Given the description of an element on the screen output the (x, y) to click on. 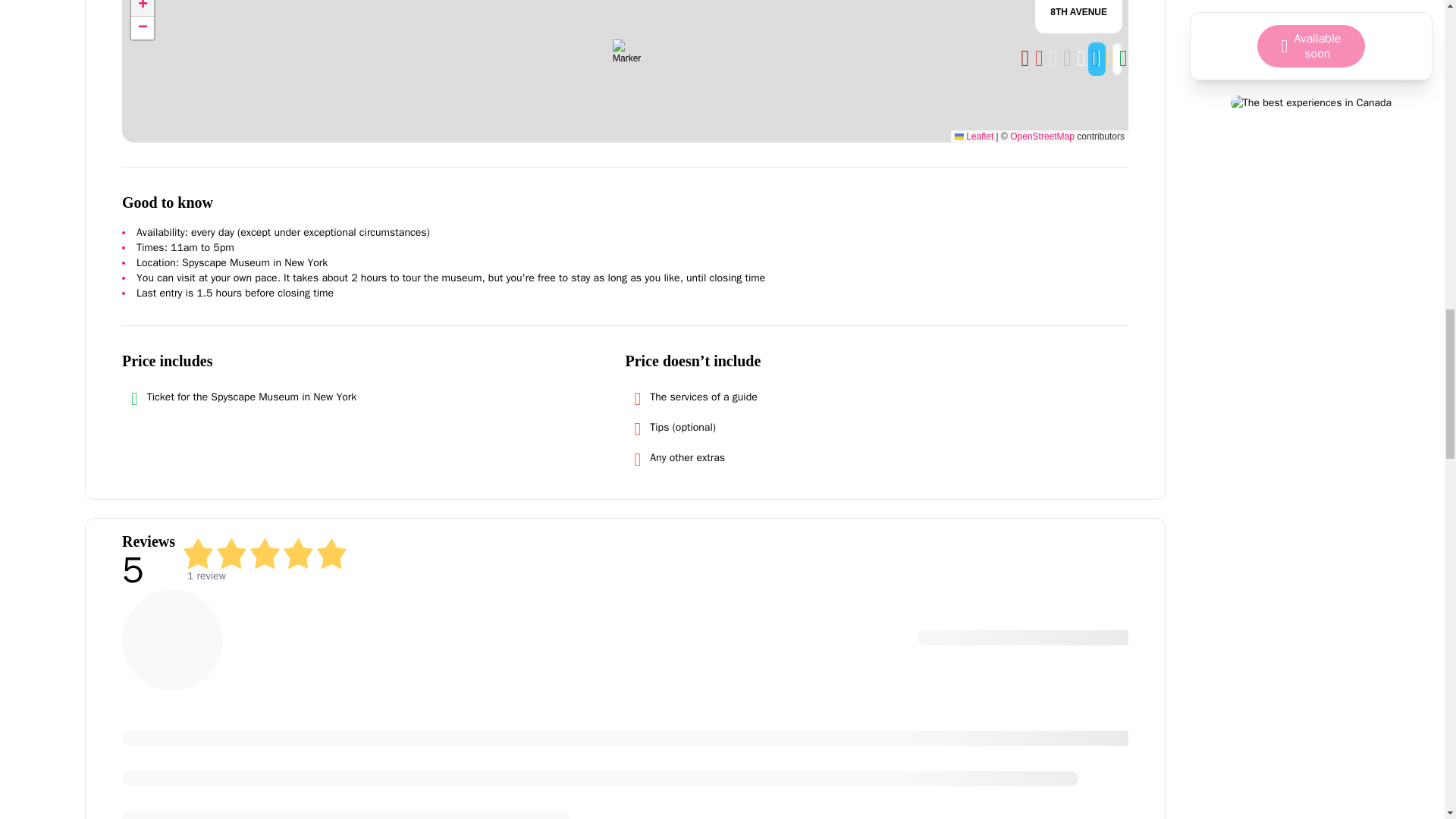
A JavaScript library for interactive maps (973, 136)
Leaflet (973, 136)
OpenStreetMap (1042, 136)
Zoom out (142, 27)
Zoom in (142, 8)
